Given the description of an element on the screen output the (x, y) to click on. 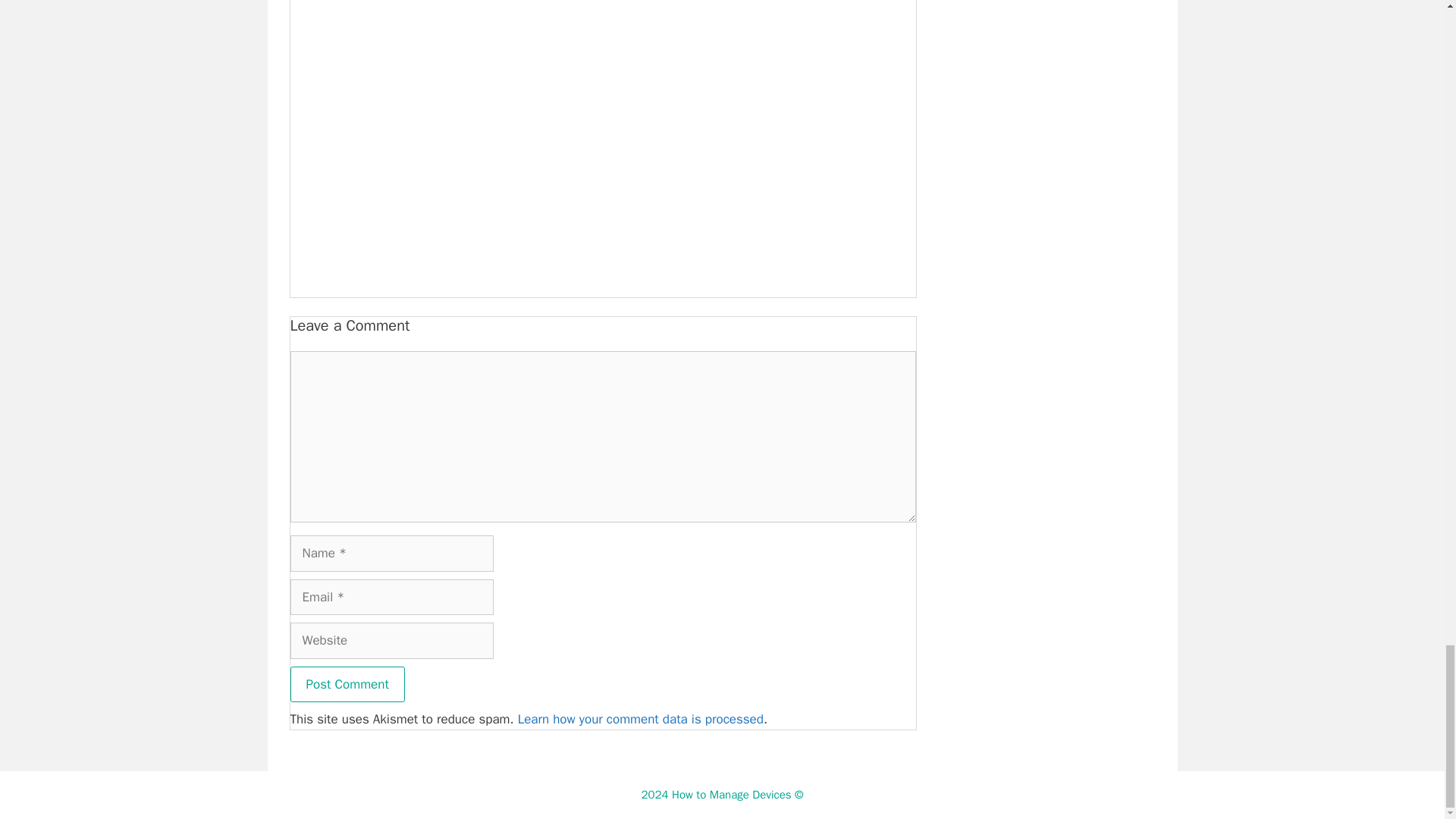
Learn how your comment data is processed (640, 719)
Post Comment (346, 684)
Post Comment (346, 684)
